Given the description of an element on the screen output the (x, y) to click on. 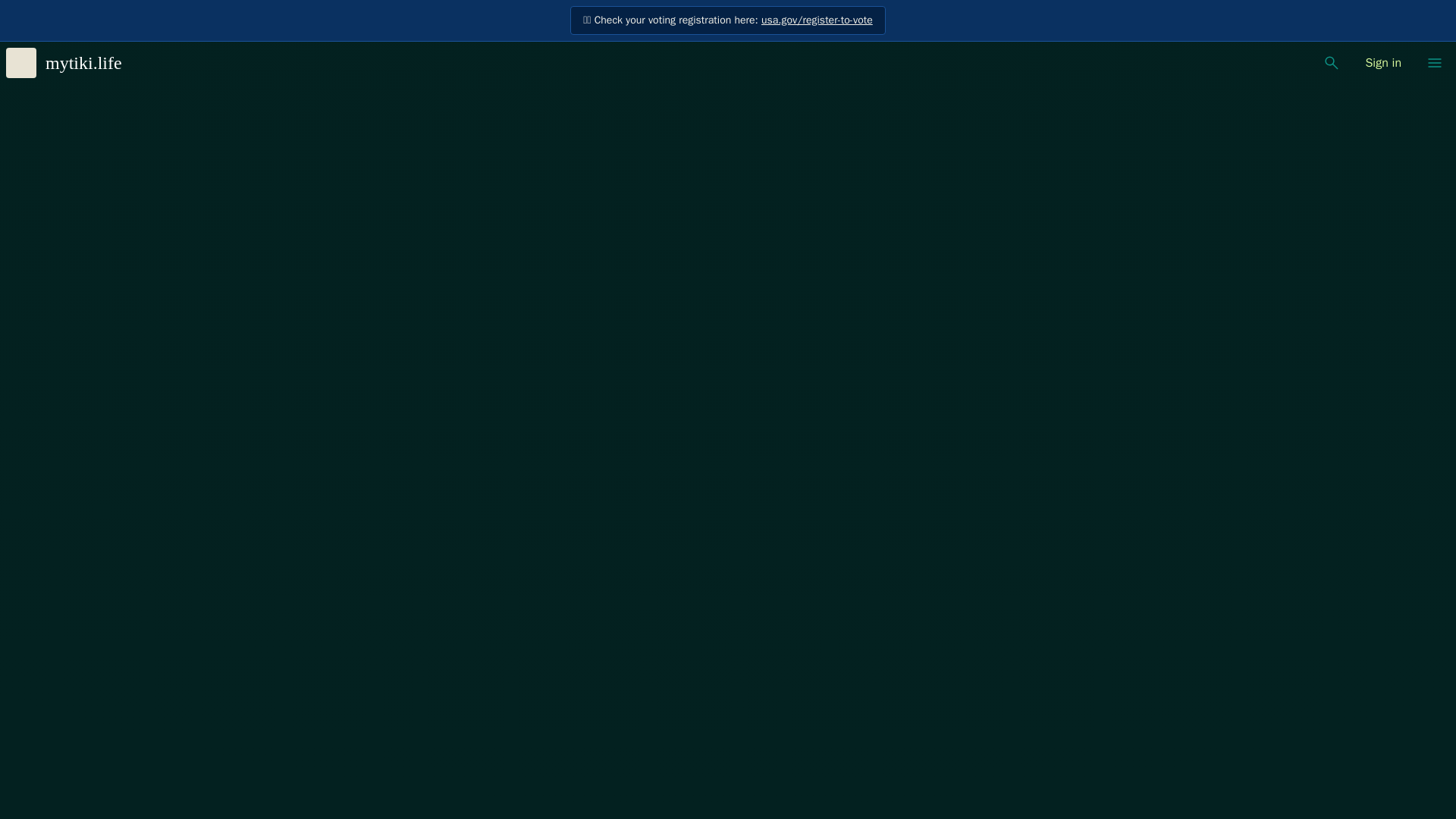
mytiki.life (69, 62)
Show search (1331, 62)
Site (1434, 62)
Sign in (1382, 62)
